Given the description of an element on the screen output the (x, y) to click on. 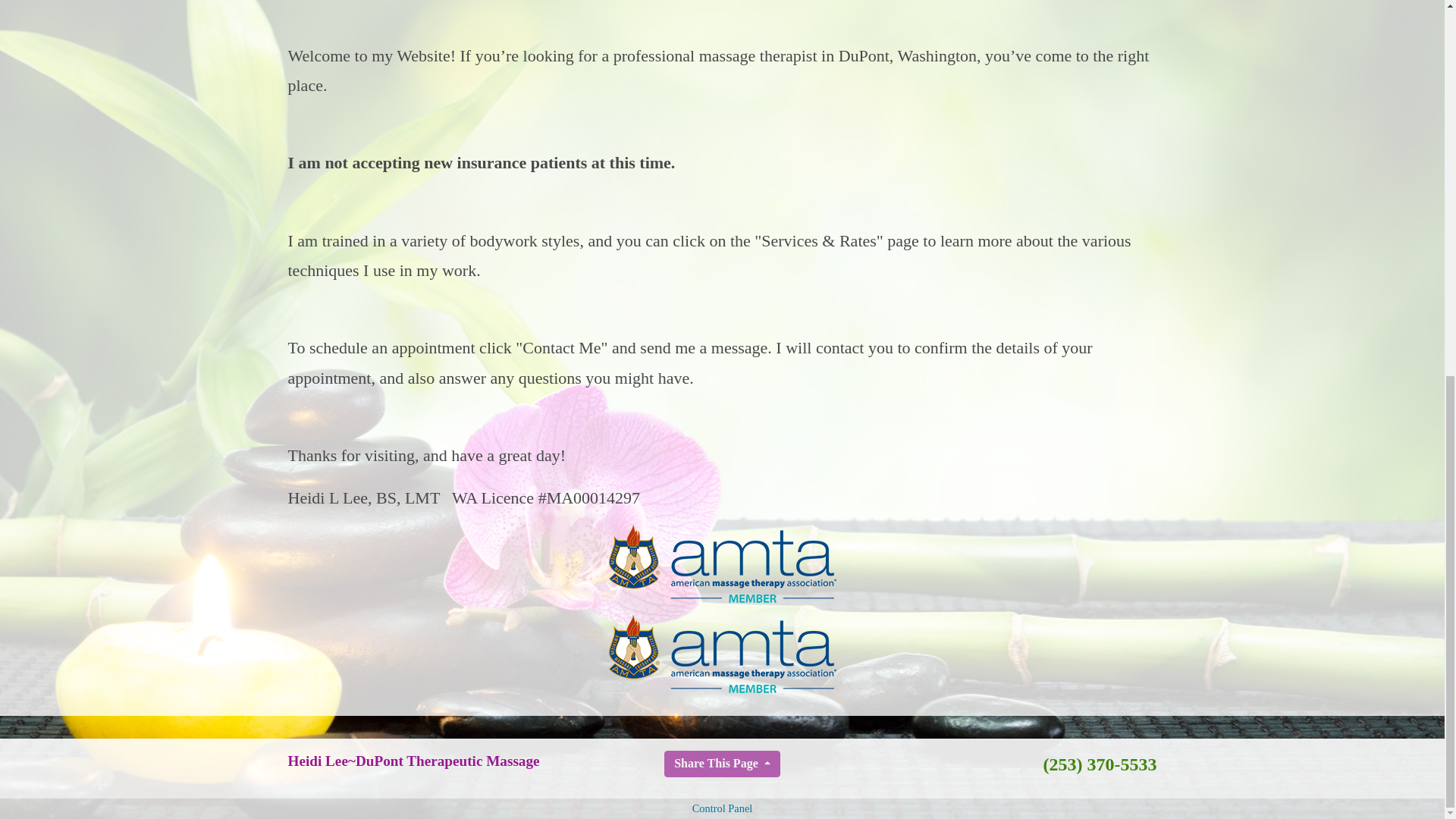
Share This Page (721, 764)
Control Panel (722, 808)
